Given the description of an element on the screen output the (x, y) to click on. 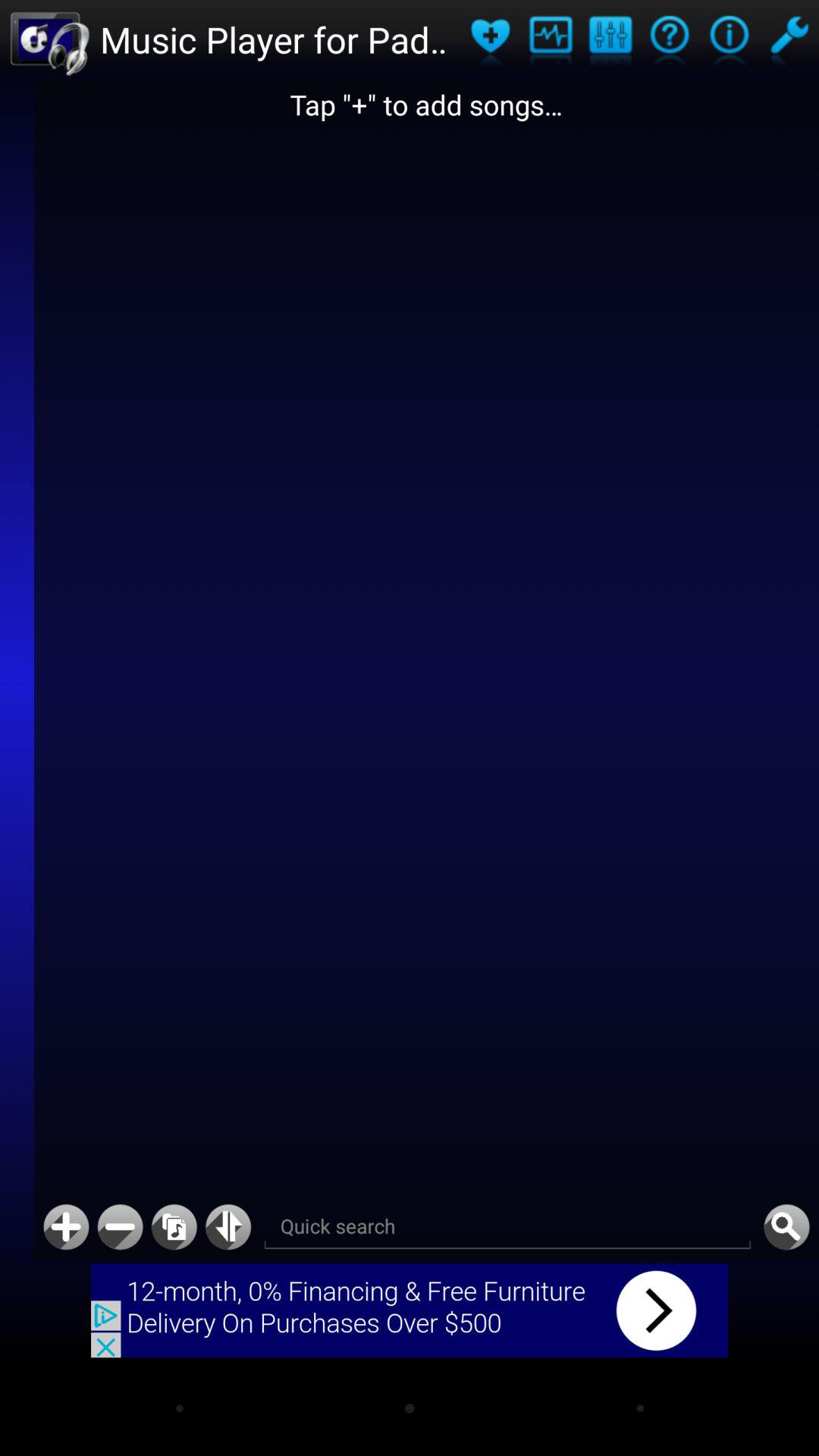
search button (786, 1226)
